Given the description of an element on the screen output the (x, y) to click on. 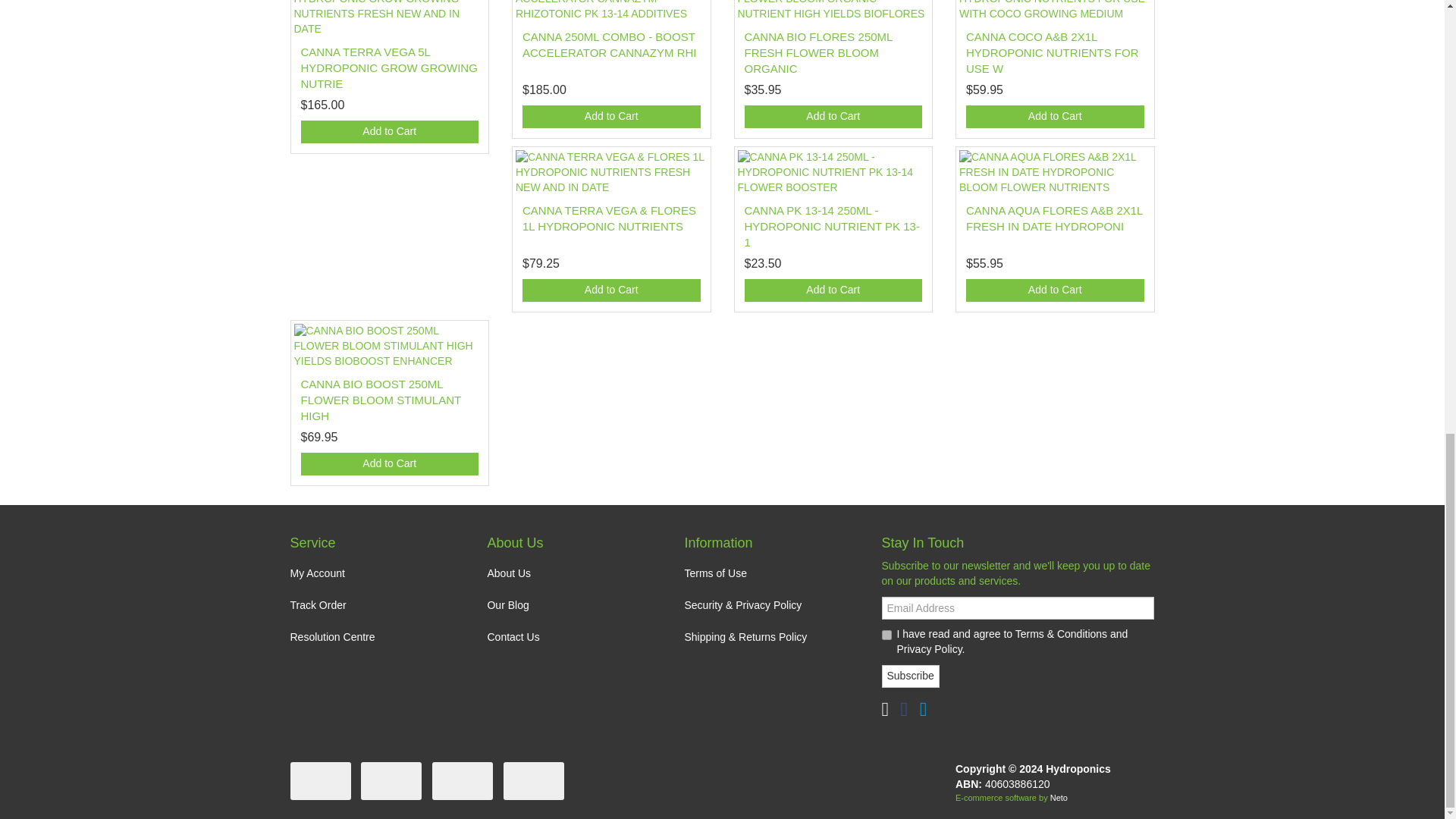
y (885, 634)
Subscribe (909, 676)
